Given the description of an element on the screen output the (x, y) to click on. 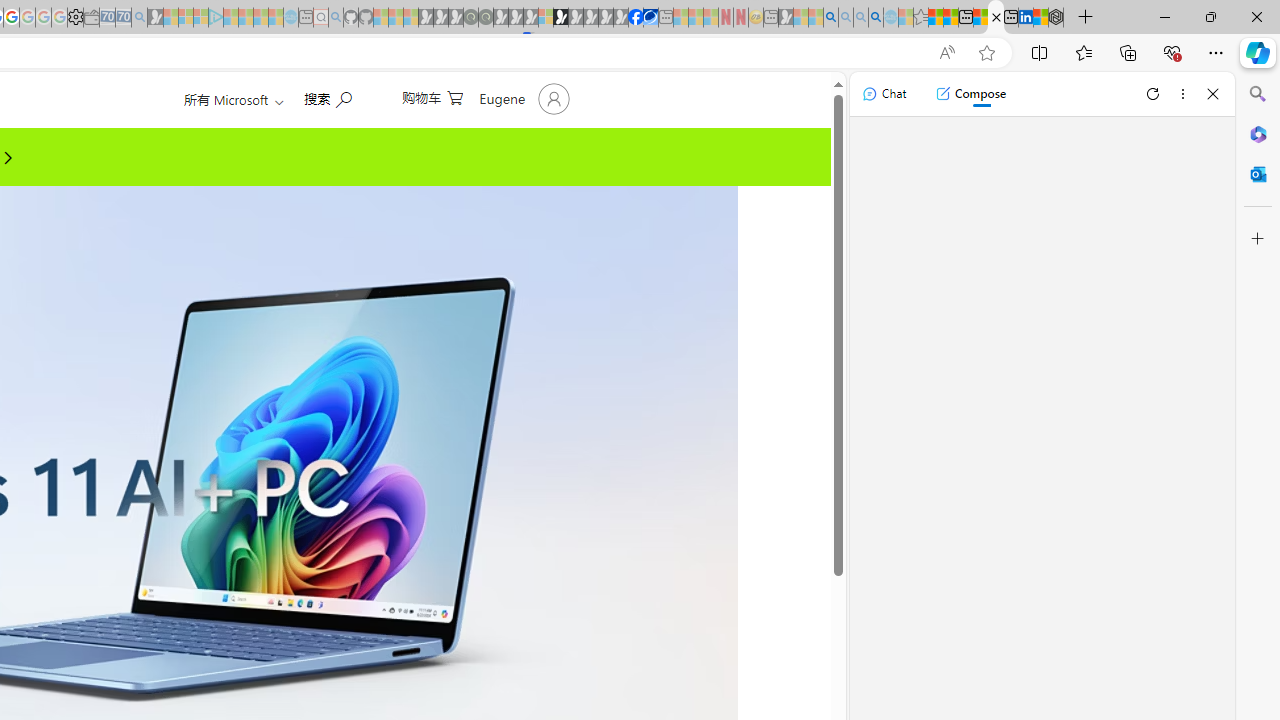
LinkedIn (1025, 17)
Microsoft Start Gaming - Sleeping (155, 17)
New tab - Sleeping (771, 17)
Google Chrome Internet Browser Download - Search Images (876, 17)
